Given the description of an element on the screen output the (x, y) to click on. 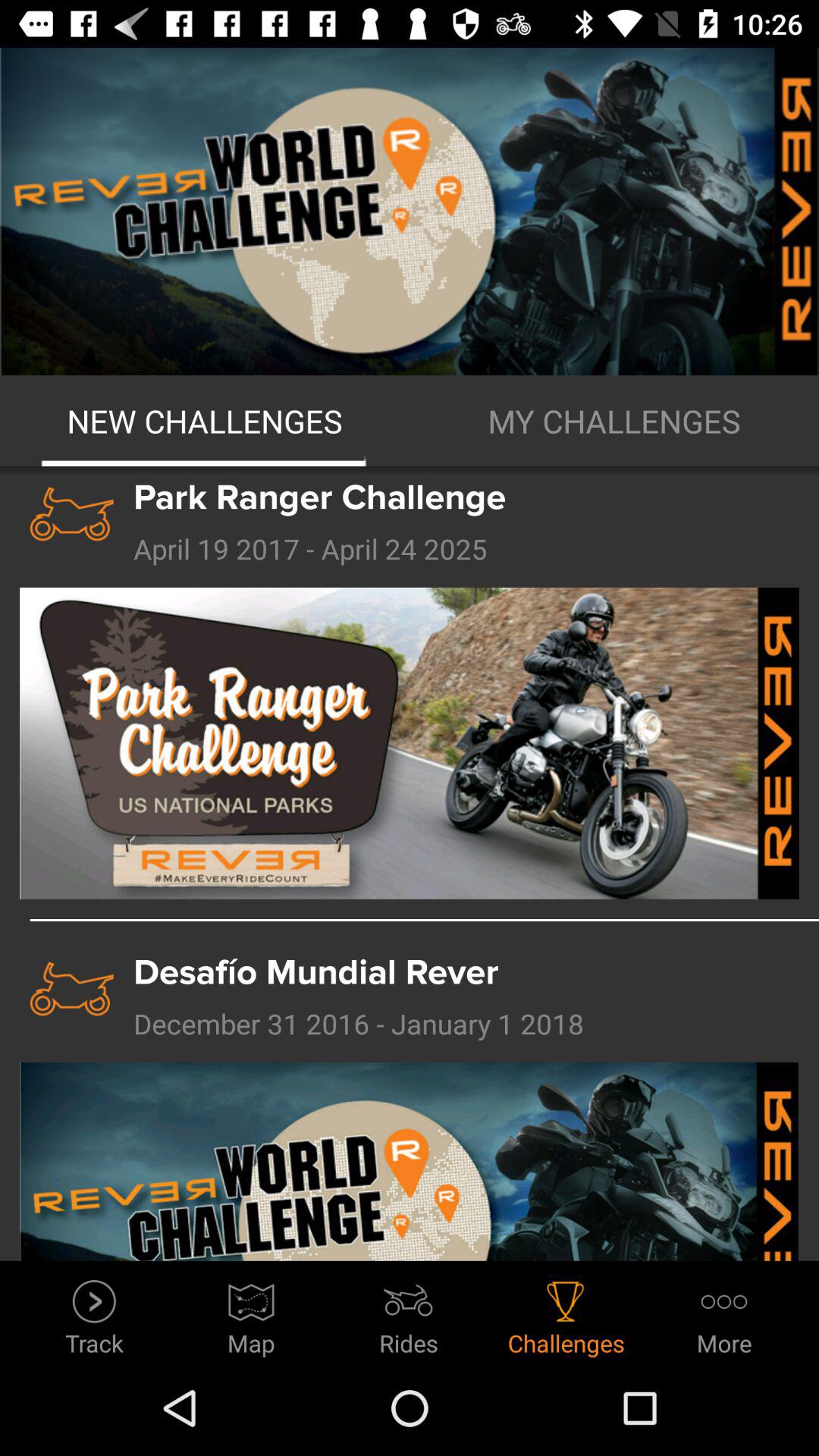
select the icon next to the rides (251, 1313)
